Given the description of an element on the screen output the (x, y) to click on. 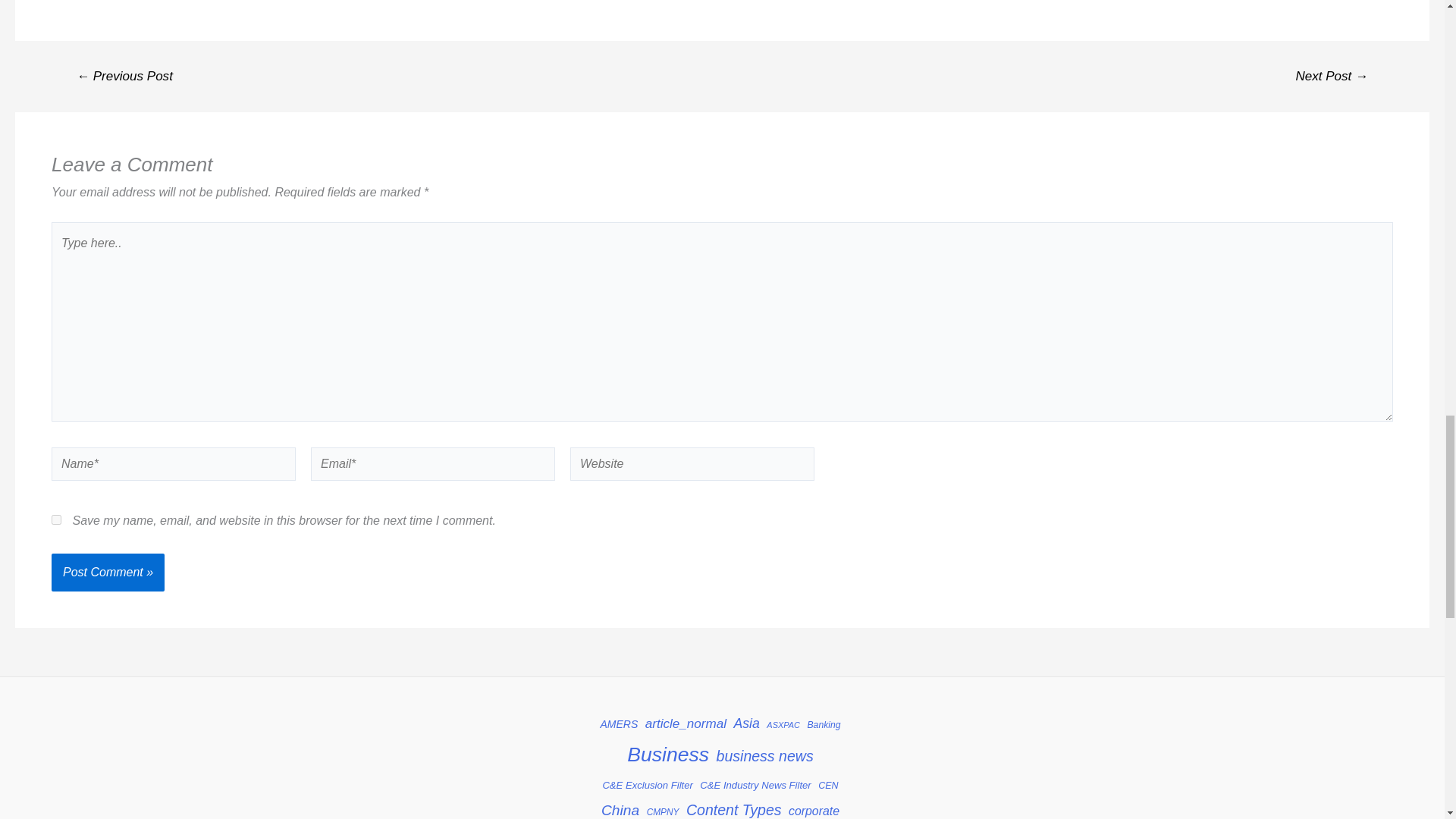
ASXPAC (783, 724)
Banking (823, 724)
Asia (745, 723)
AMERS (618, 723)
business news (764, 755)
Business (668, 754)
yes (55, 519)
